Given the description of an element on the screen output the (x, y) to click on. 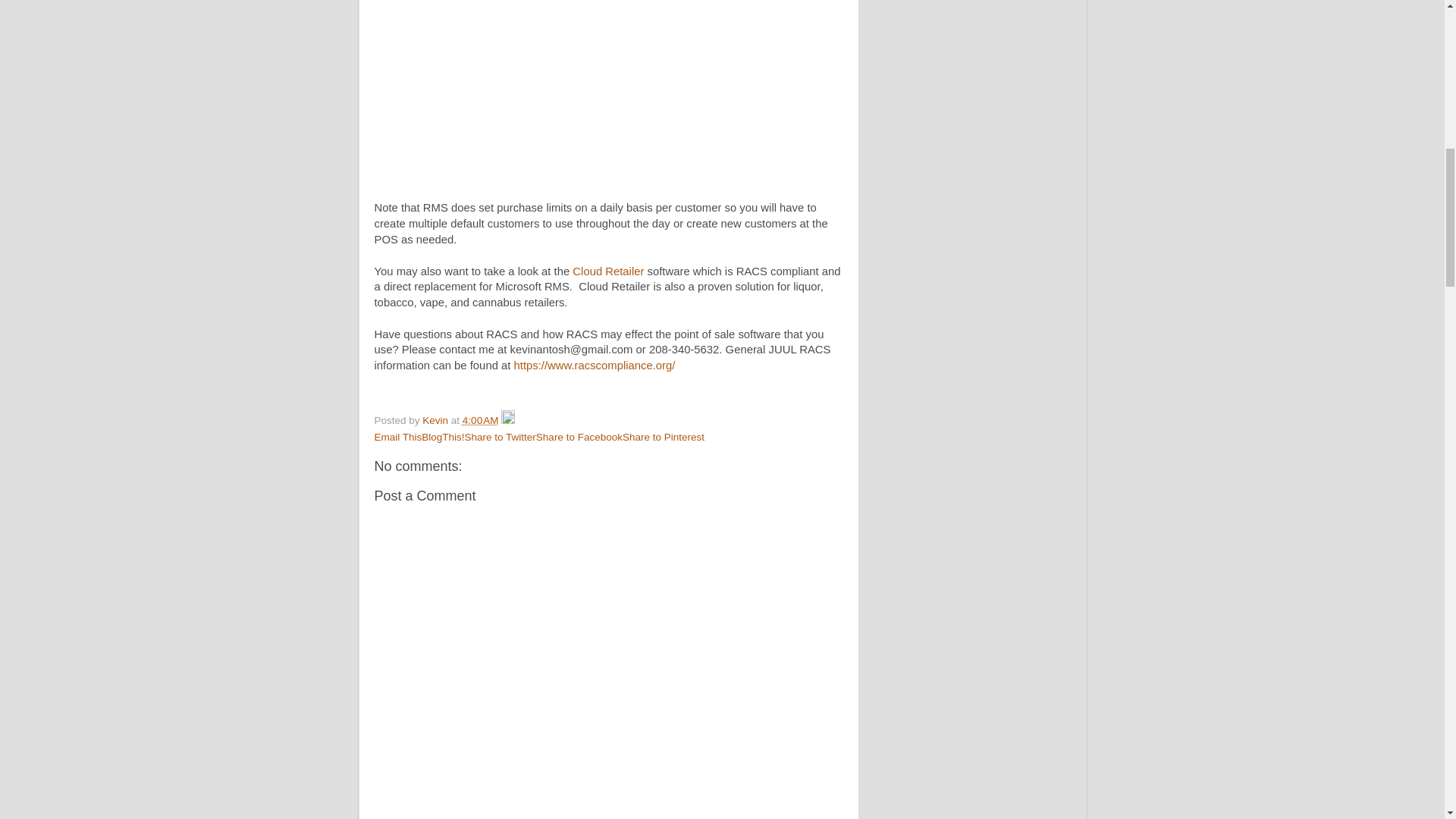
Share to Twitter (499, 437)
Share to Pinterest (663, 437)
Share to Facebook (579, 437)
Share to Pinterest (663, 437)
Cloud Retailer (607, 271)
author profile (436, 419)
Email This (398, 437)
BlogThis! (443, 437)
permanent link (481, 419)
Edit Post (507, 419)
Kevin (436, 419)
Share to Facebook (579, 437)
Email This (398, 437)
BlogThis! (443, 437)
